Given the description of an element on the screen output the (x, y) to click on. 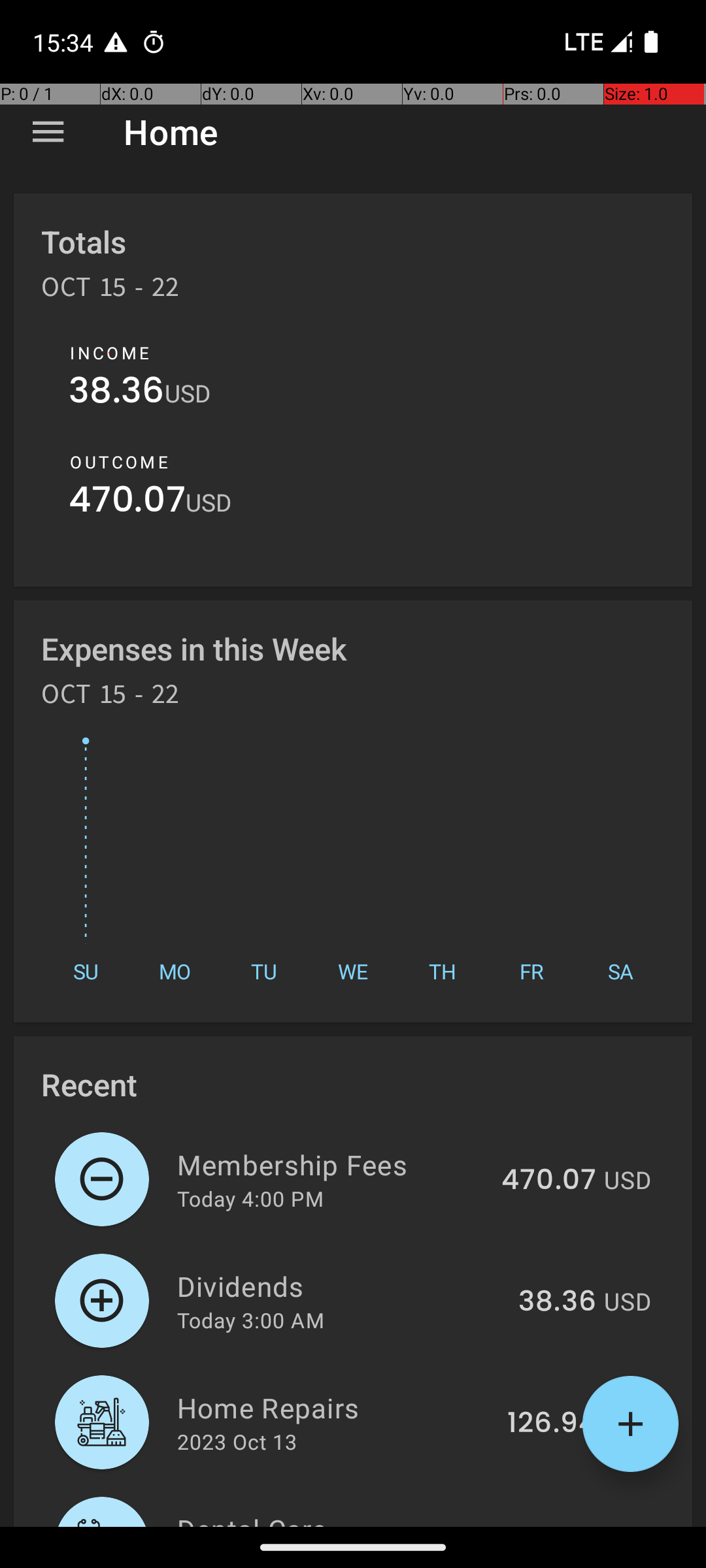
38.36 Element type: android.widget.TextView (116, 393)
470.07 Element type: android.widget.TextView (126, 502)
Membership Fees Element type: android.widget.TextView (331, 1164)
Today 4:00 PM Element type: android.widget.TextView (250, 1198)
Dividends Element type: android.widget.TextView (340, 1285)
Today 3:00 AM Element type: android.widget.TextView (250, 1320)
Home Repairs Element type: android.widget.TextView (334, 1407)
2023 Oct 13 Element type: android.widget.TextView (236, 1441)
126.94 Element type: android.widget.TextView (551, 1423)
Dental Care Element type: android.widget.TextView (349, 1518)
73.9 Element type: android.widget.TextView (566, 1524)
